Given the description of an element on the screen output the (x, y) to click on. 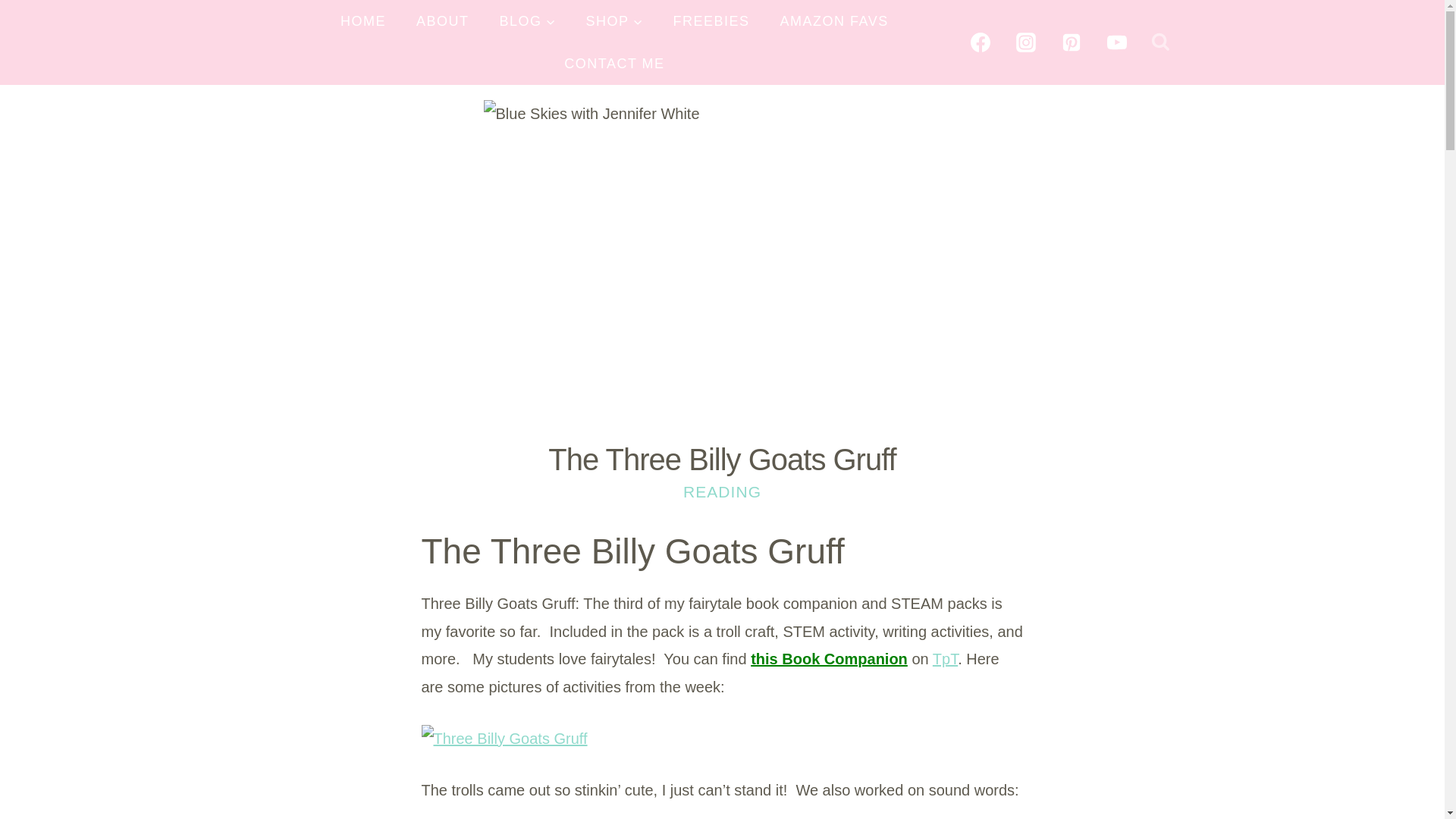
CONTACT ME (613, 63)
READING (721, 491)
FREEBIES (711, 21)
SHOP (614, 21)
AMAZON FAVS (834, 21)
BLOG (527, 21)
TpT (945, 658)
HOME (362, 21)
ABOUT (442, 21)
this Book Companion (829, 658)
